Given the description of an element on the screen output the (x, y) to click on. 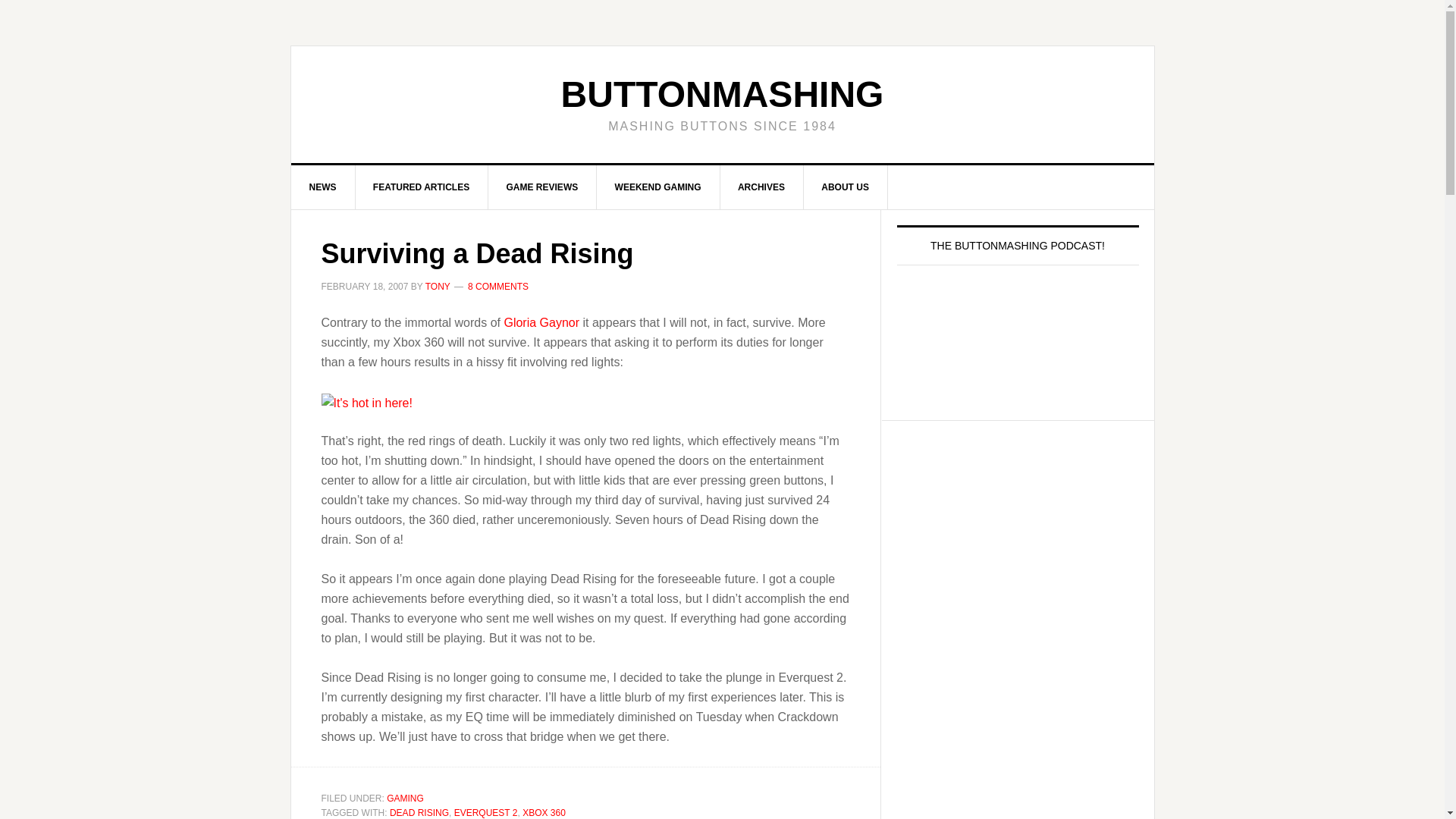
Photo Sharing (366, 400)
FEATURED ARTICLES (421, 187)
GAME REVIEWS (541, 187)
BUTTONMASHING (721, 94)
ARCHIVES (761, 187)
8 COMMENTS (497, 286)
DEAD RISING (419, 812)
XBOX 360 (544, 812)
Gloria Gaynor (541, 321)
GAMING (405, 798)
NEWS (323, 187)
TONY (437, 286)
WEEKEND GAMING (658, 187)
EVERQUEST 2 (486, 812)
